Given the description of an element on the screen output the (x, y) to click on. 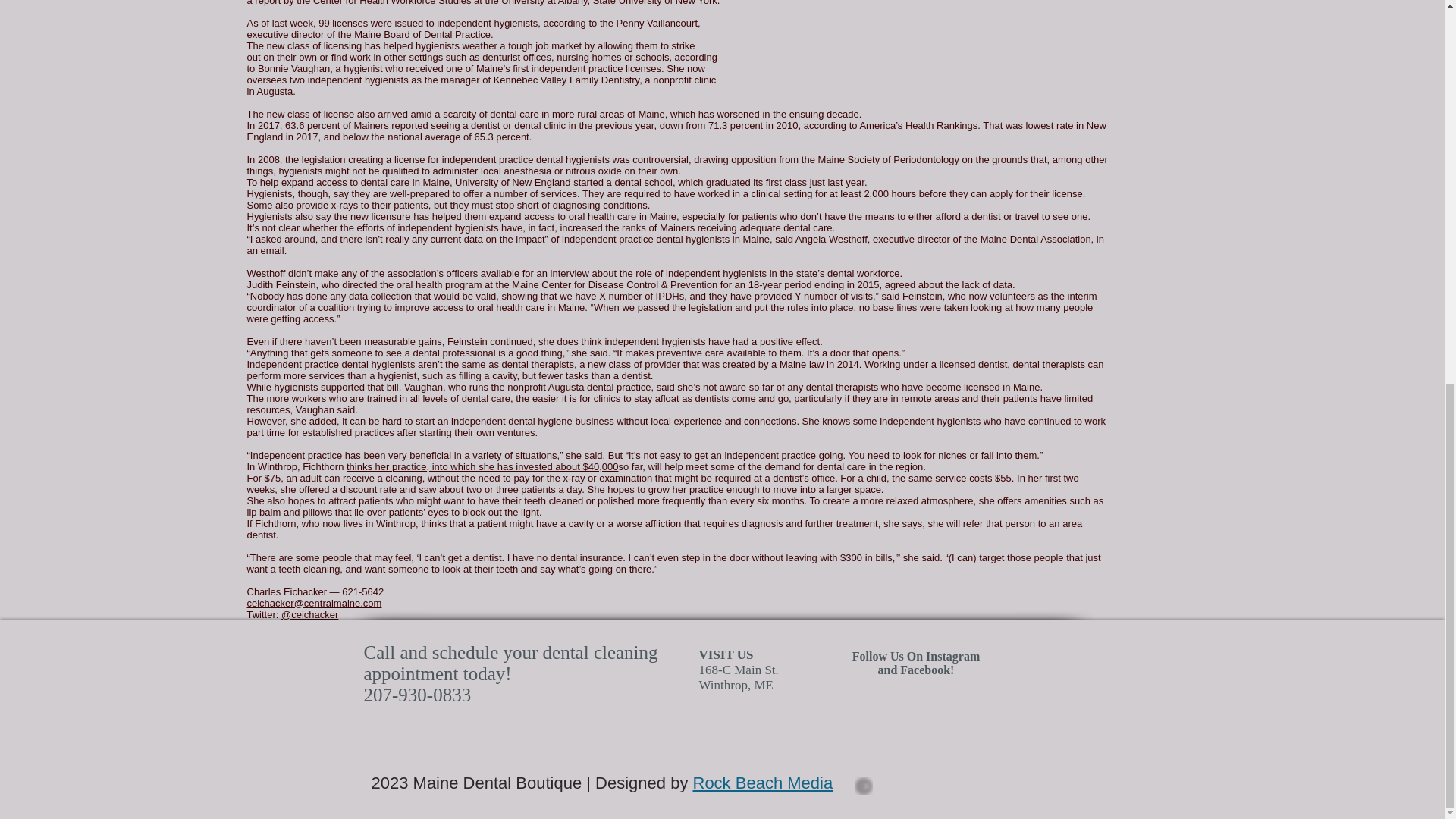
started a dental school, which graduated (661, 182)
Rock Beach Media (762, 782)
Embedded Content (968, 103)
created by a Maine law in 2014 (790, 364)
